Given the description of an element on the screen output the (x, y) to click on. 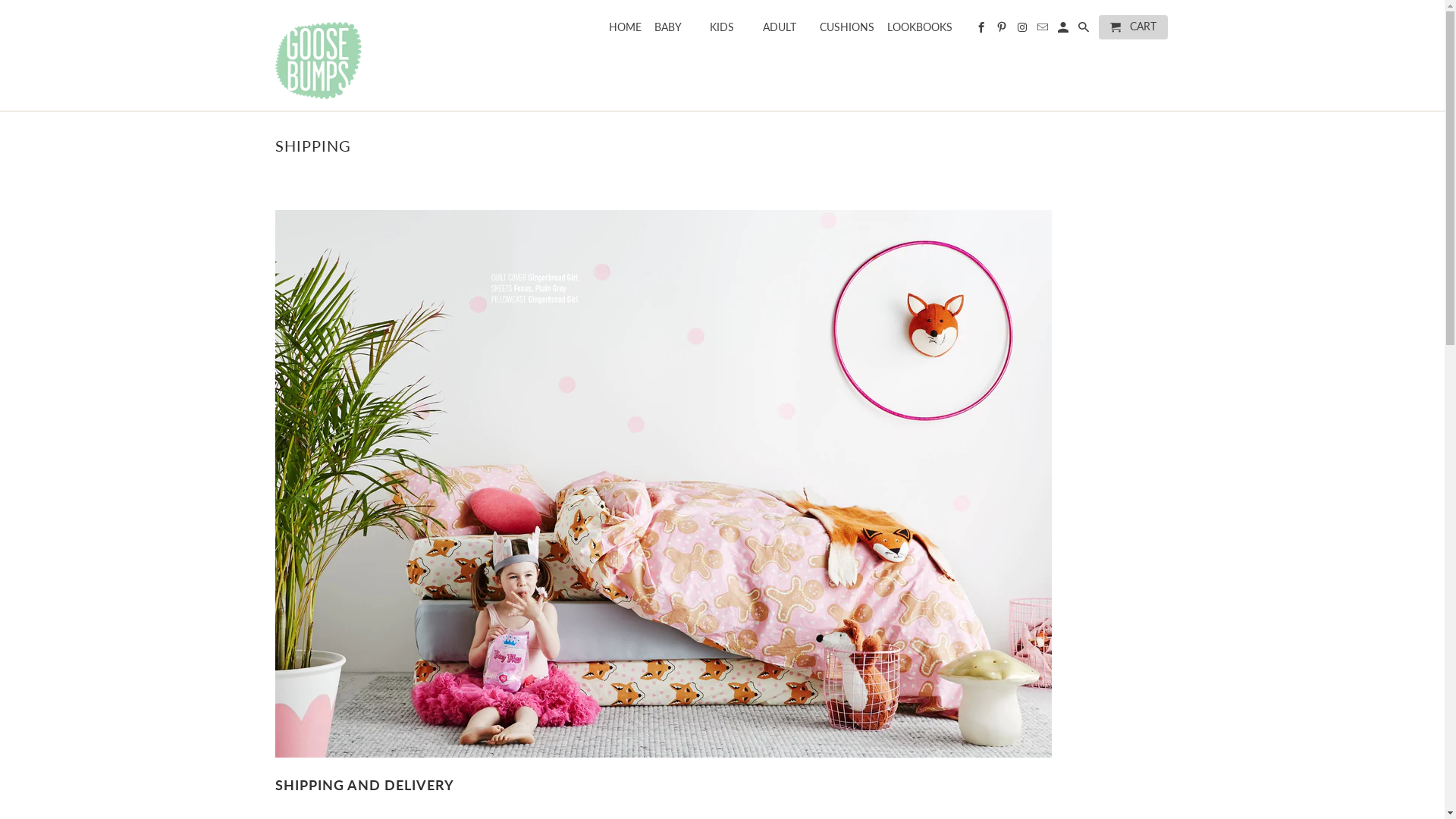
Goosebumps Element type: hover (380, 55)
Search Element type: hover (1084, 30)
CUSHIONS Element type: text (846, 30)
Goosebumps on Pinterest Element type: hover (1002, 30)
My Account  Element type: hover (1063, 30)
Email Goosebumps Element type: hover (1043, 30)
Goosebumps on Instagram Element type: hover (1022, 30)
CART Element type: text (1132, 27)
Goosebumps on Facebook Element type: hover (981, 30)
HOME Element type: text (624, 30)
